Given the description of an element on the screen output the (x, y) to click on. 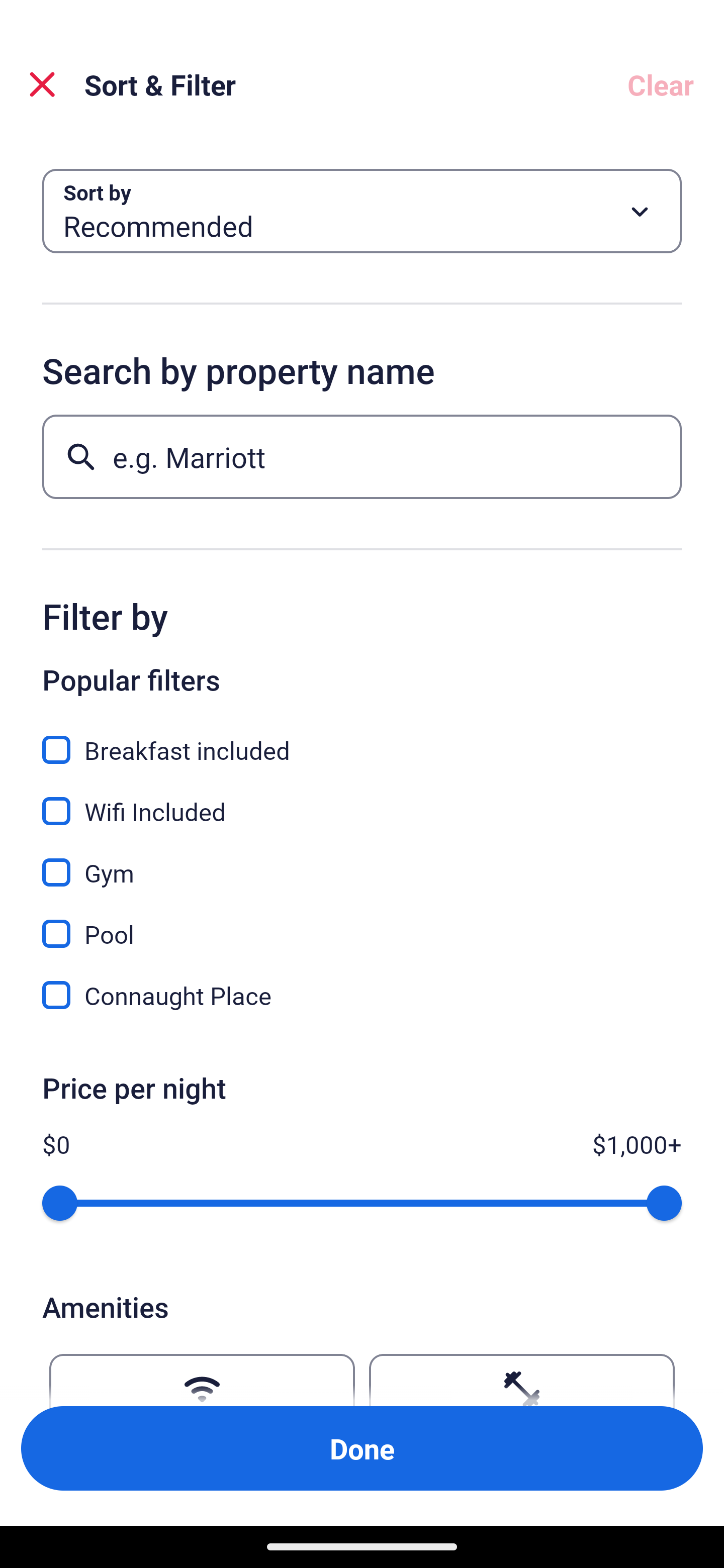
Close Sort and Filter (42, 84)
Clear (660, 84)
Sort by Button Recommended (361, 211)
e.g. Marriott Button (361, 455)
Breakfast included, Breakfast included (361, 738)
Wifi Included, Wifi Included (361, 800)
Gym, Gym (361, 861)
Pool, Pool (361, 922)
Connaught Place, Connaught Place (361, 995)
Apply and close Sort and Filter Done (361, 1448)
